Given the description of an element on the screen output the (x, y) to click on. 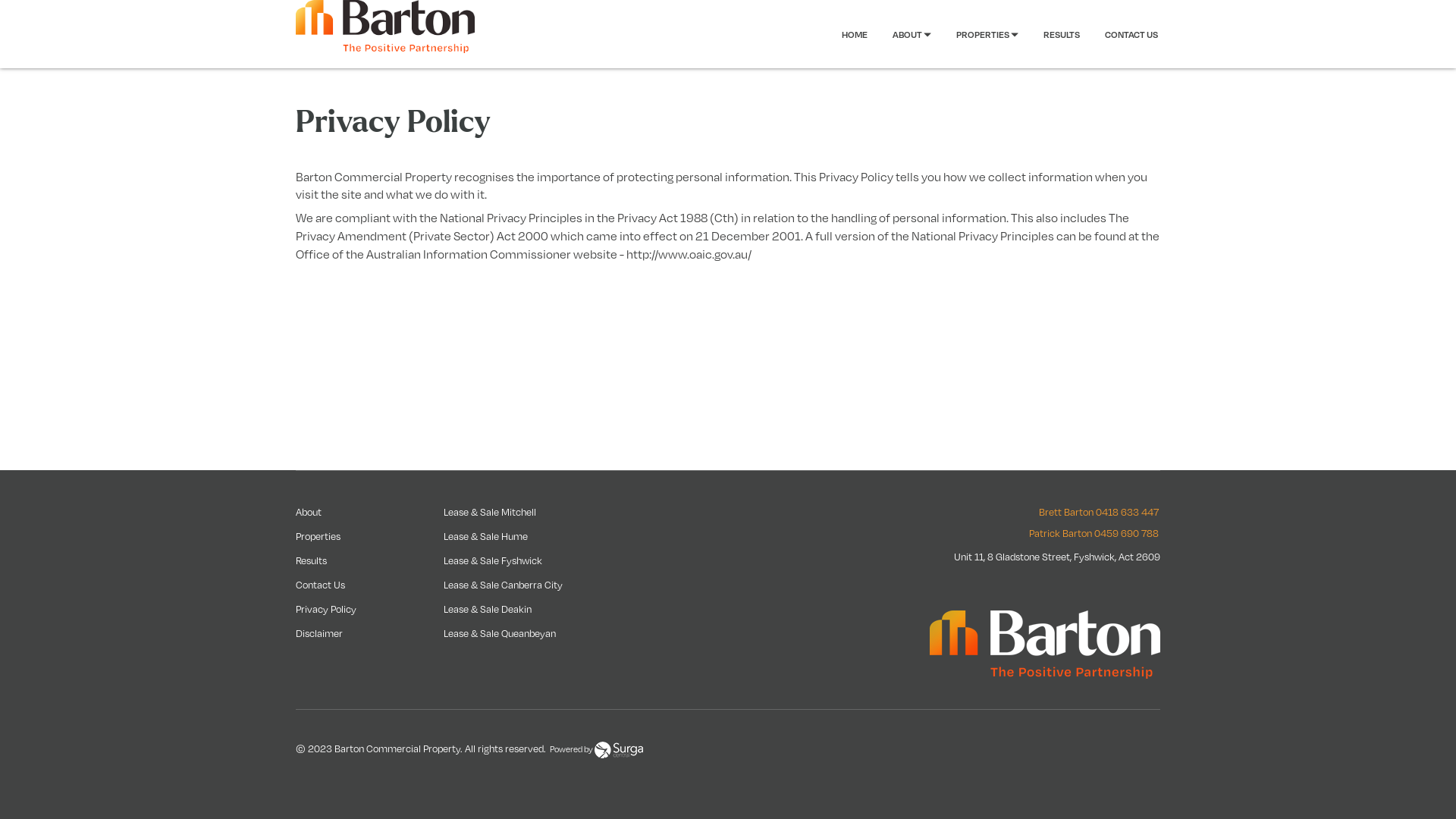
Lease & Sale Queanbeyan Element type: text (499, 633)
Disclaimer Element type: text (318, 633)
Contact Us Element type: text (320, 584)
Lease & Sale Hume Element type: text (485, 535)
Results Element type: text (310, 560)
Privacy Policy Element type: text (325, 608)
Lease & Sale Canberra City Element type: text (502, 584)
PROPERTIES Element type: text (975, 34)
HOME Element type: text (854, 34)
Lease & Sale Mitchell Element type: text (489, 511)
Lease & Sale Fyshwick Element type: text (492, 560)
Properties Element type: text (317, 535)
Patrick Barton 0459 690 788  Element type: text (1094, 532)
Unit 11, 8 Gladstone Street, Fyshwick, Act 2609 Element type: text (1056, 556)
RESULTS Element type: text (1049, 34)
CONTACT US Element type: text (1119, 34)
About Element type: text (308, 511)
Powered by Element type: text (596, 749)
Lease & Sale Deakin Element type: text (487, 608)
ABOUT Element type: text (900, 34)
Brett Barton 0418 633 447  Element type: text (1099, 511)
